Given the description of an element on the screen output the (x, y) to click on. 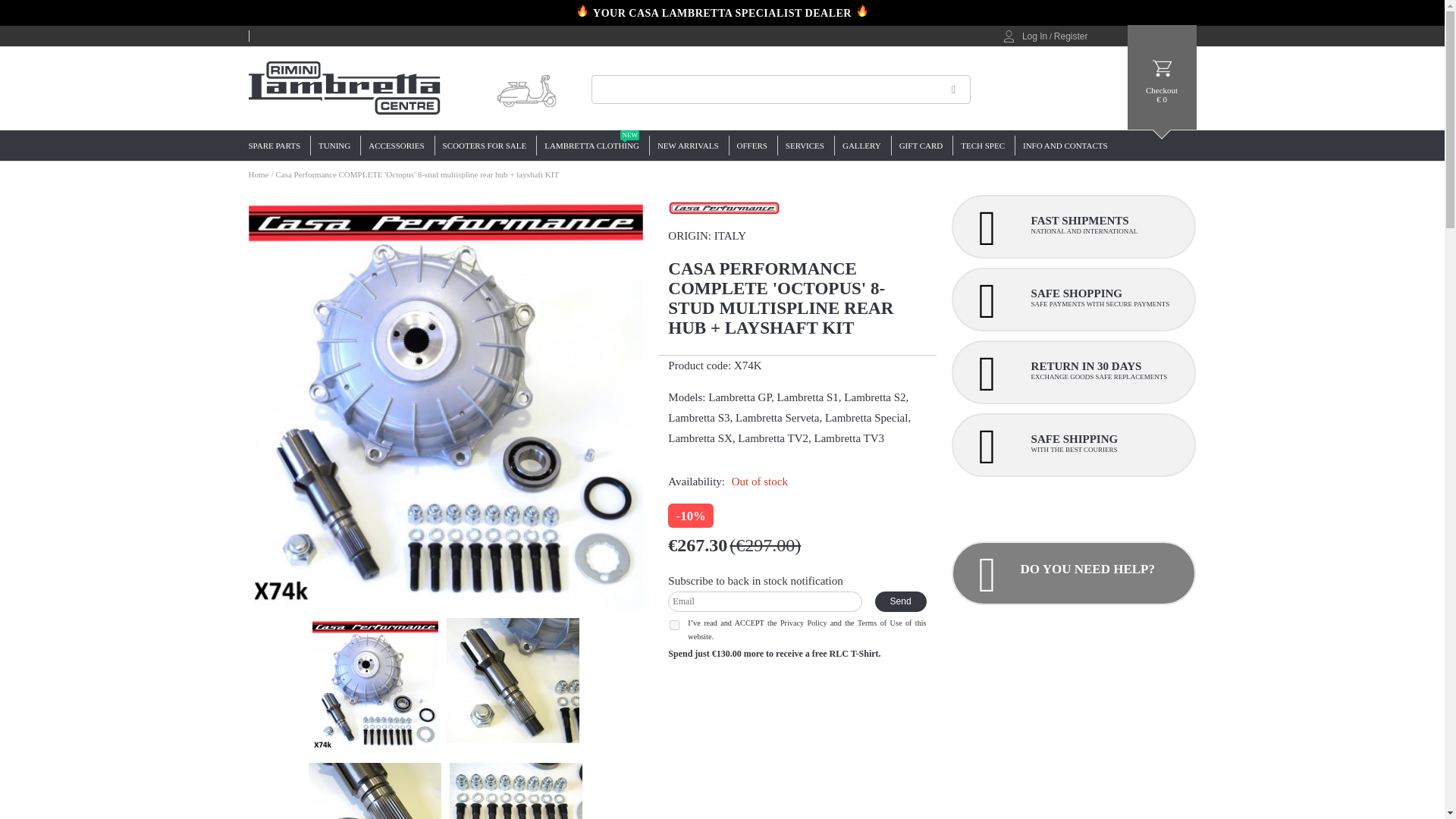
Info and Contacts (1064, 145)
OFFERS (751, 145)
TECH SPEC (981, 145)
INFO AND CONTACTS (1064, 145)
SPARE PARTS (278, 145)
Offers (751, 145)
Home (590, 145)
SCOOTERS FOR SALE (258, 174)
Gift Card (483, 145)
